Given the description of an element on the screen output the (x, y) to click on. 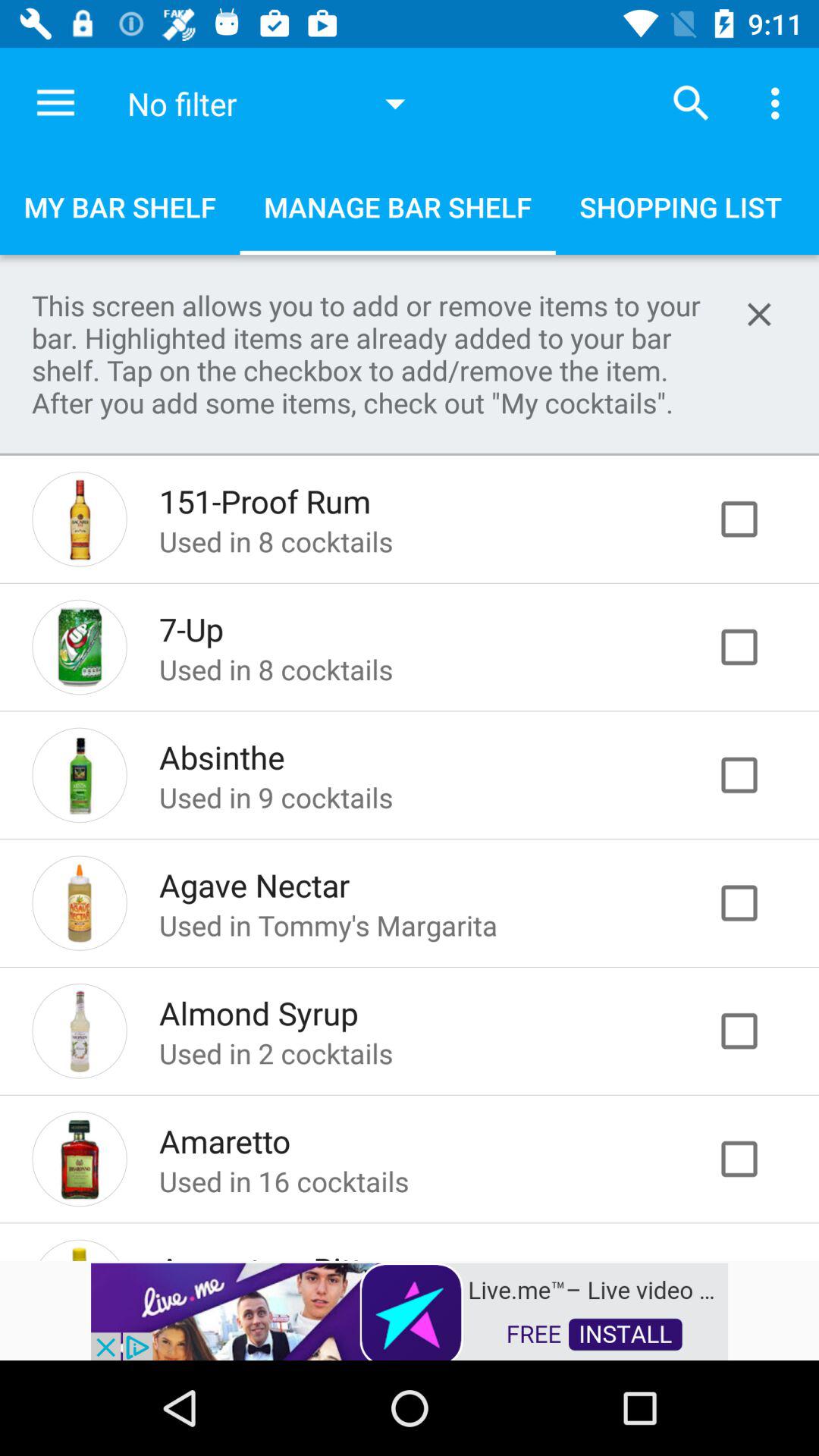
select this item (755, 646)
